Given the description of an element on the screen output the (x, y) to click on. 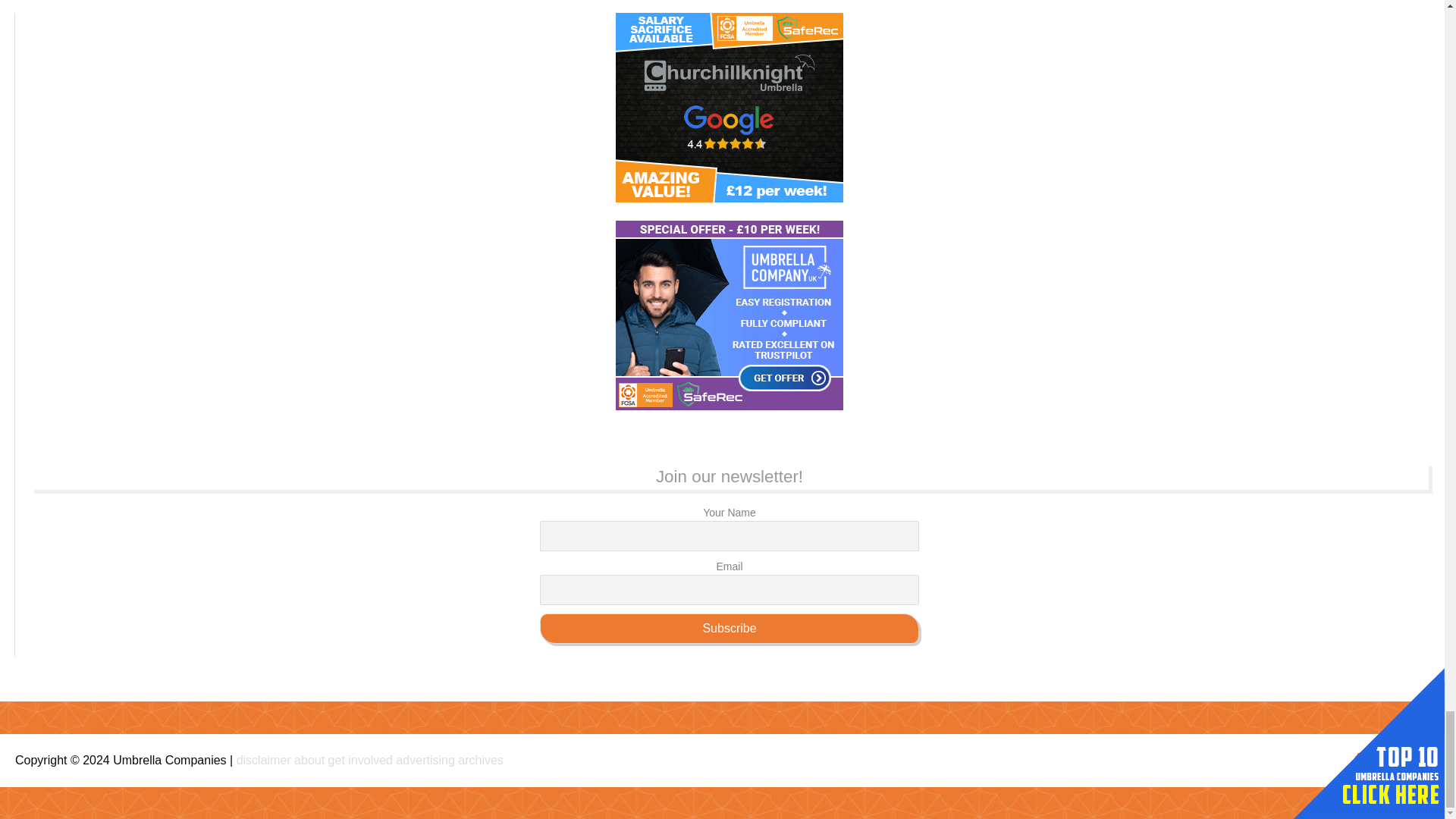
Subscribe (729, 628)
